Given the description of an element on the screen output the (x, y) to click on. 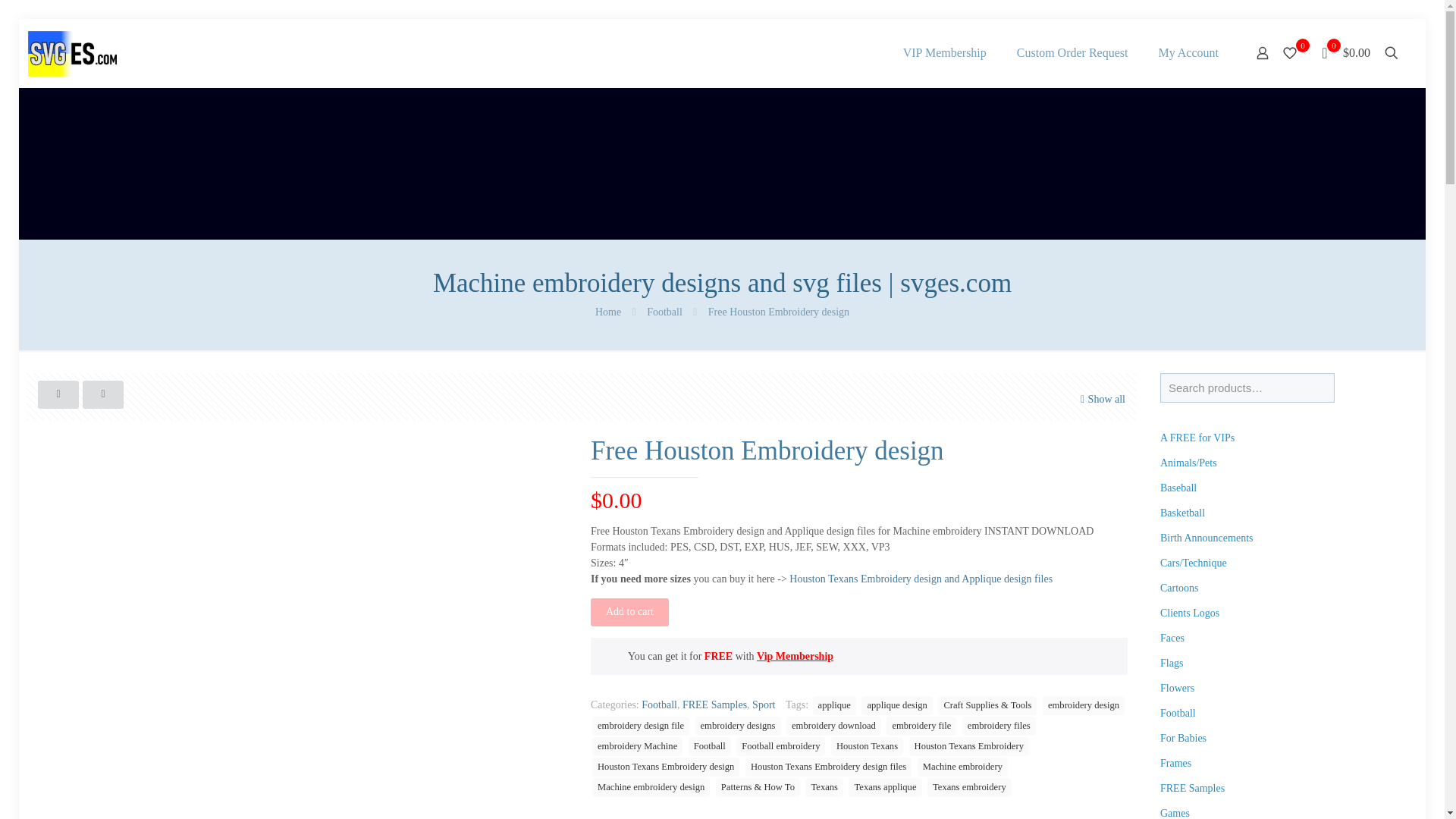
applique (834, 705)
Houston Texans Embroidery design and Applique design files (920, 578)
Show all (1101, 398)
Football embroidery (780, 746)
My Account (1187, 52)
Sport (763, 704)
0 (1293, 53)
applique design (896, 705)
Football (664, 311)
embroidery files (998, 725)
Vip Membership (794, 655)
embroidery design file (640, 725)
Football (659, 704)
Custom Order Request (1071, 52)
VIP Membership (944, 52)
